Given the description of an element on the screen output the (x, y) to click on. 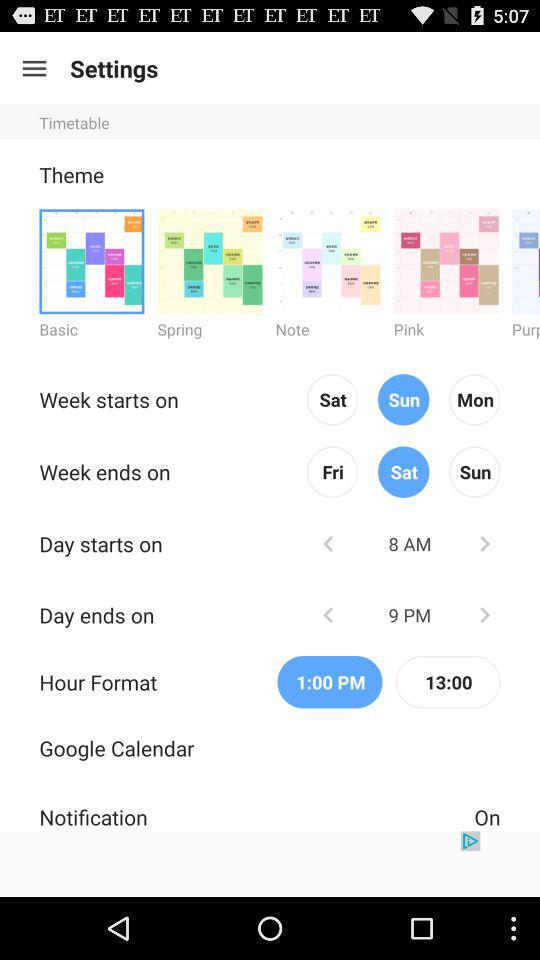
select theme (445, 260)
